Given the description of an element on the screen output the (x, y) to click on. 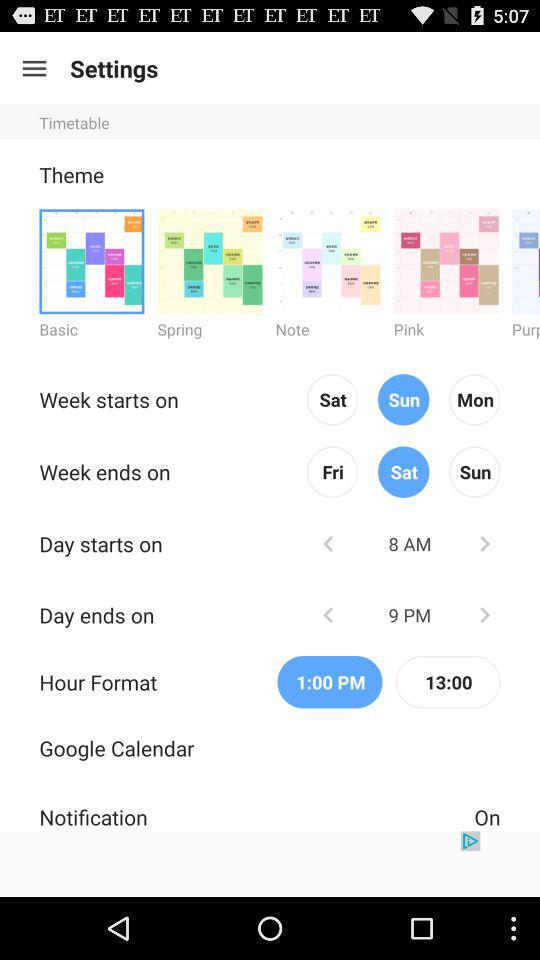
select theme (445, 260)
